Given the description of an element on the screen output the (x, y) to click on. 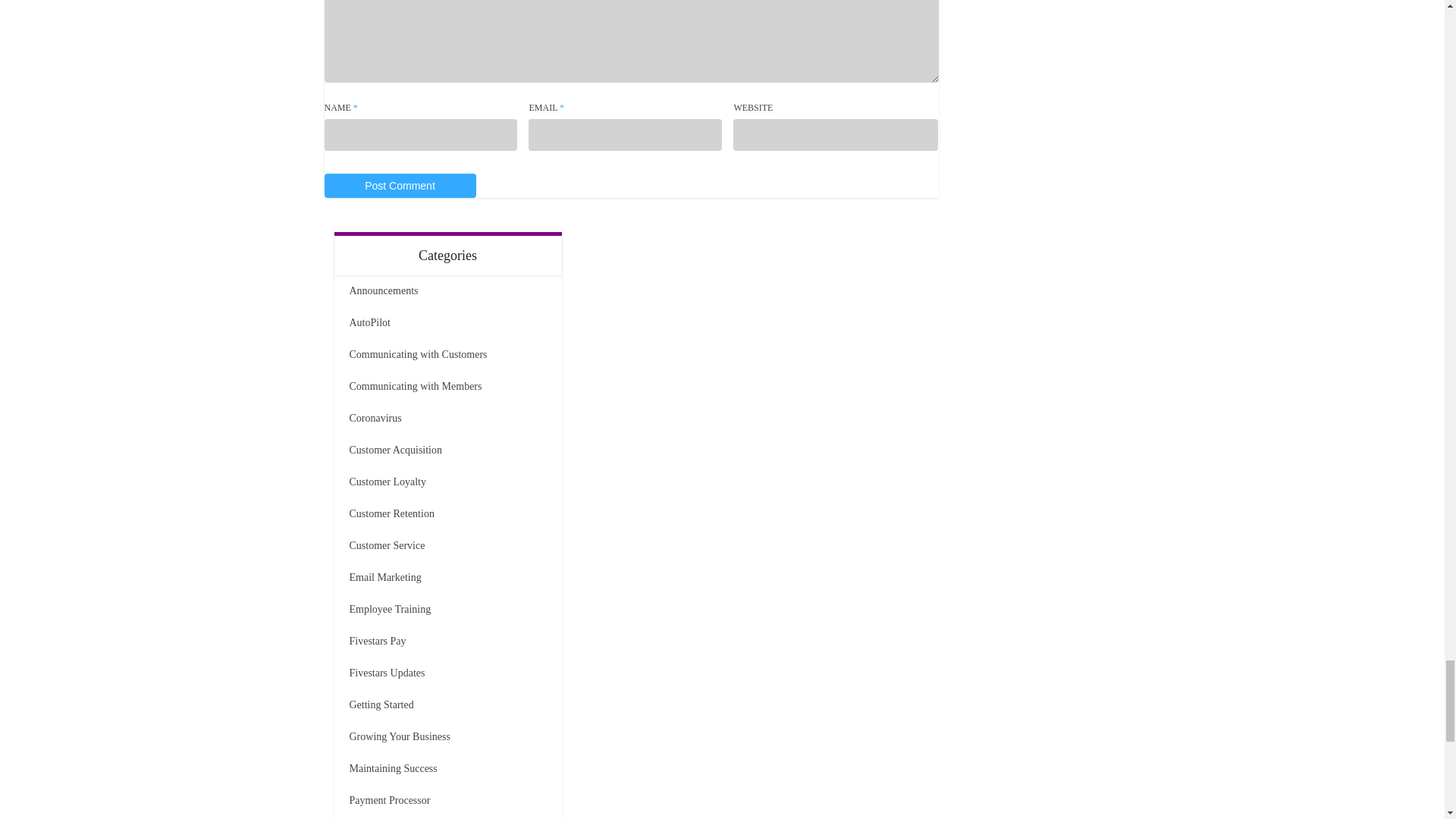
Post Comment (400, 185)
